Given the description of an element on the screen output the (x, y) to click on. 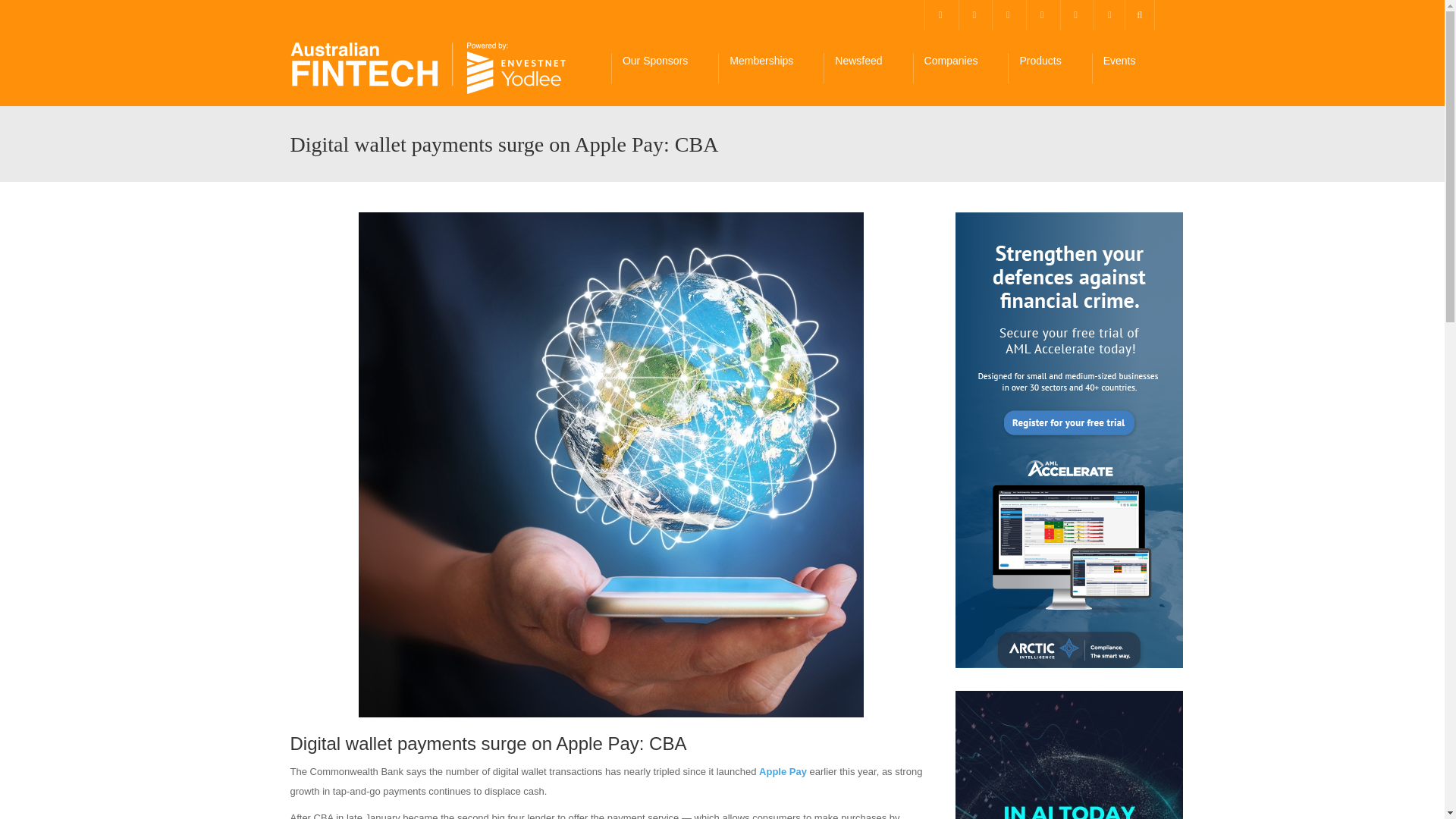
Events (1129, 68)
Apple Pay (782, 771)
Newsfeed (868, 68)
Products (1048, 68)
Our Sponsors (664, 68)
Companies (960, 68)
Digital wallet payments surge on Apple Pay: CBA (428, 67)
Memberships (770, 68)
